Given the description of an element on the screen output the (x, y) to click on. 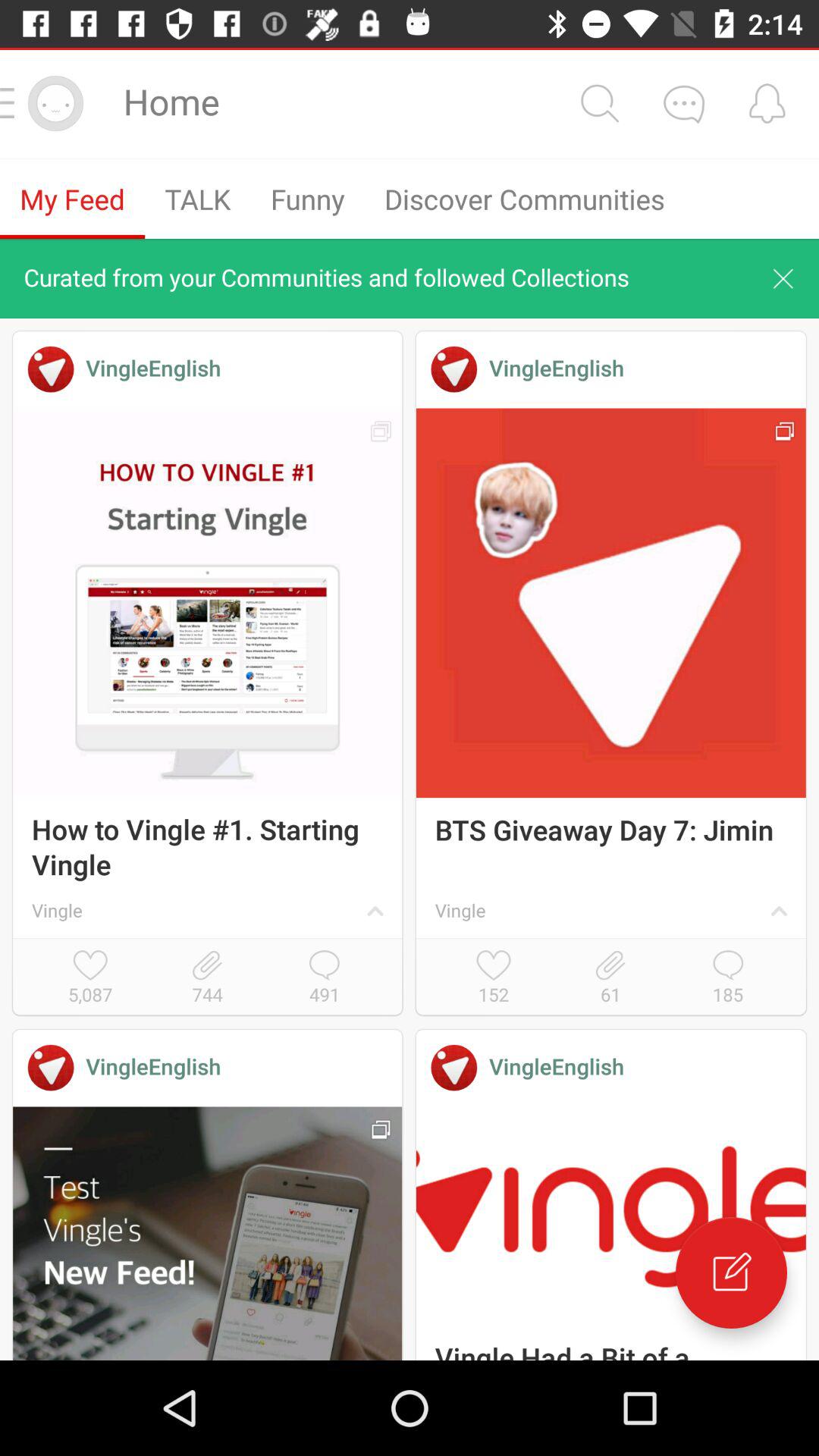
open icon next to the 152 icon (610, 978)
